Given the description of an element on the screen output the (x, y) to click on. 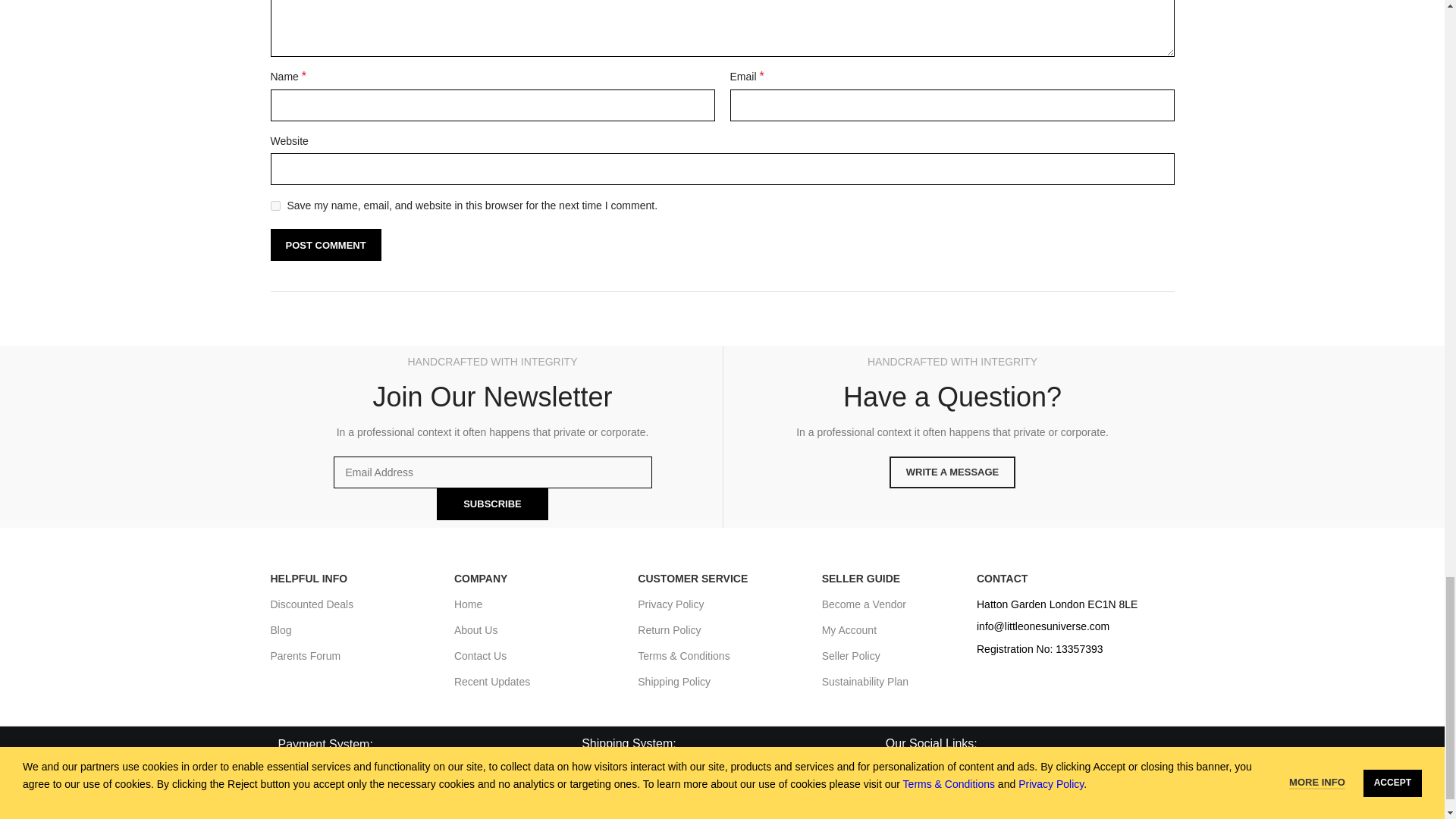
yes (274, 205)
Post Comment (324, 245)
Subscribe (492, 504)
